Given the description of an element on the screen output the (x, y) to click on. 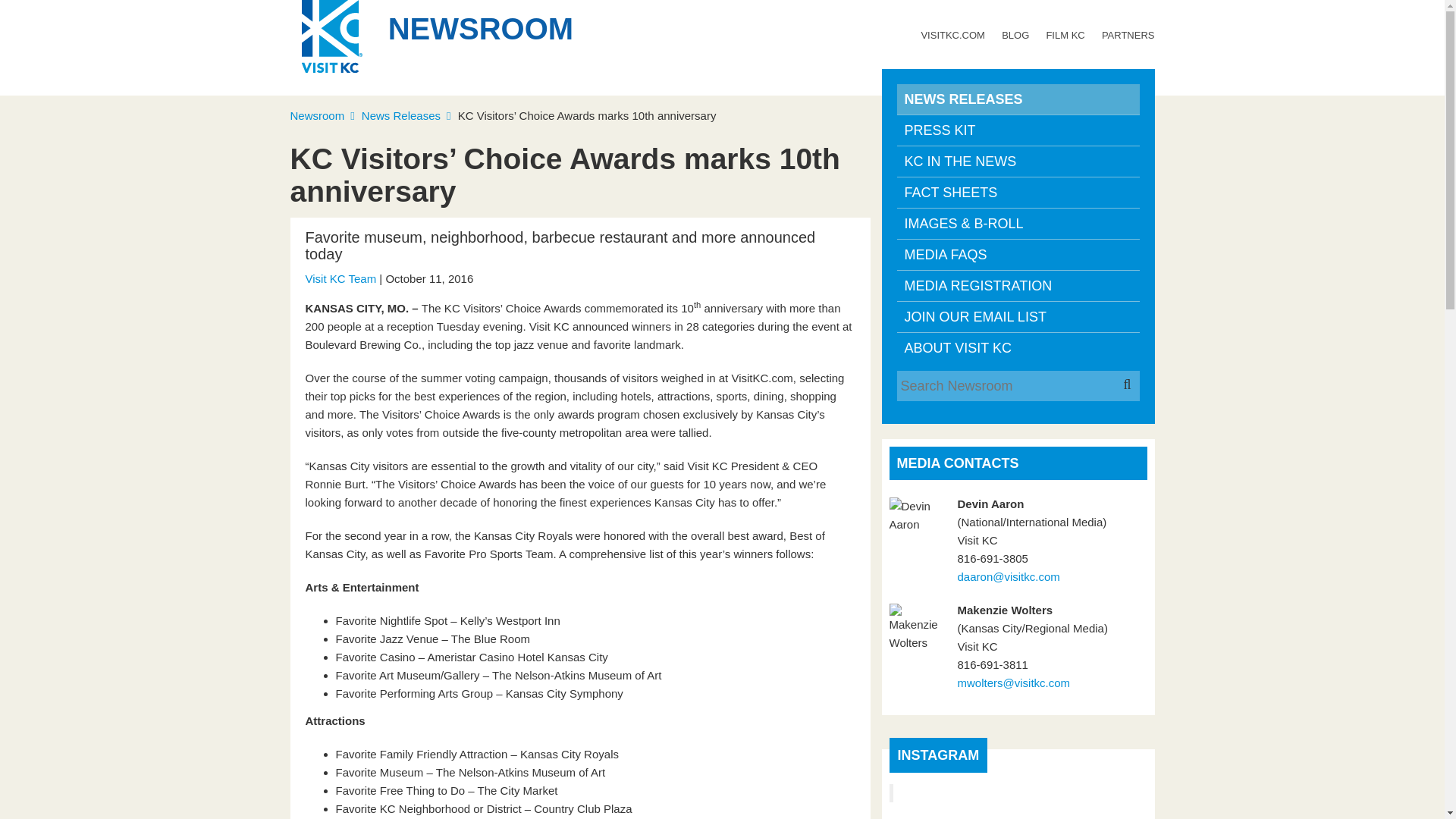
INSTAGRAM (938, 755)
FACT SHEETS (1018, 192)
KC IN THE NEWS (1018, 161)
BLOG (1015, 35)
PRESS KIT (1018, 130)
Newsroom (323, 115)
JOIN OUR EMAIL LIST (1018, 317)
Visit KC Team (339, 278)
NEWS RELEASES (1018, 99)
ABOUT VISIT KC (1018, 347)
